Given the description of an element on the screen output the (x, y) to click on. 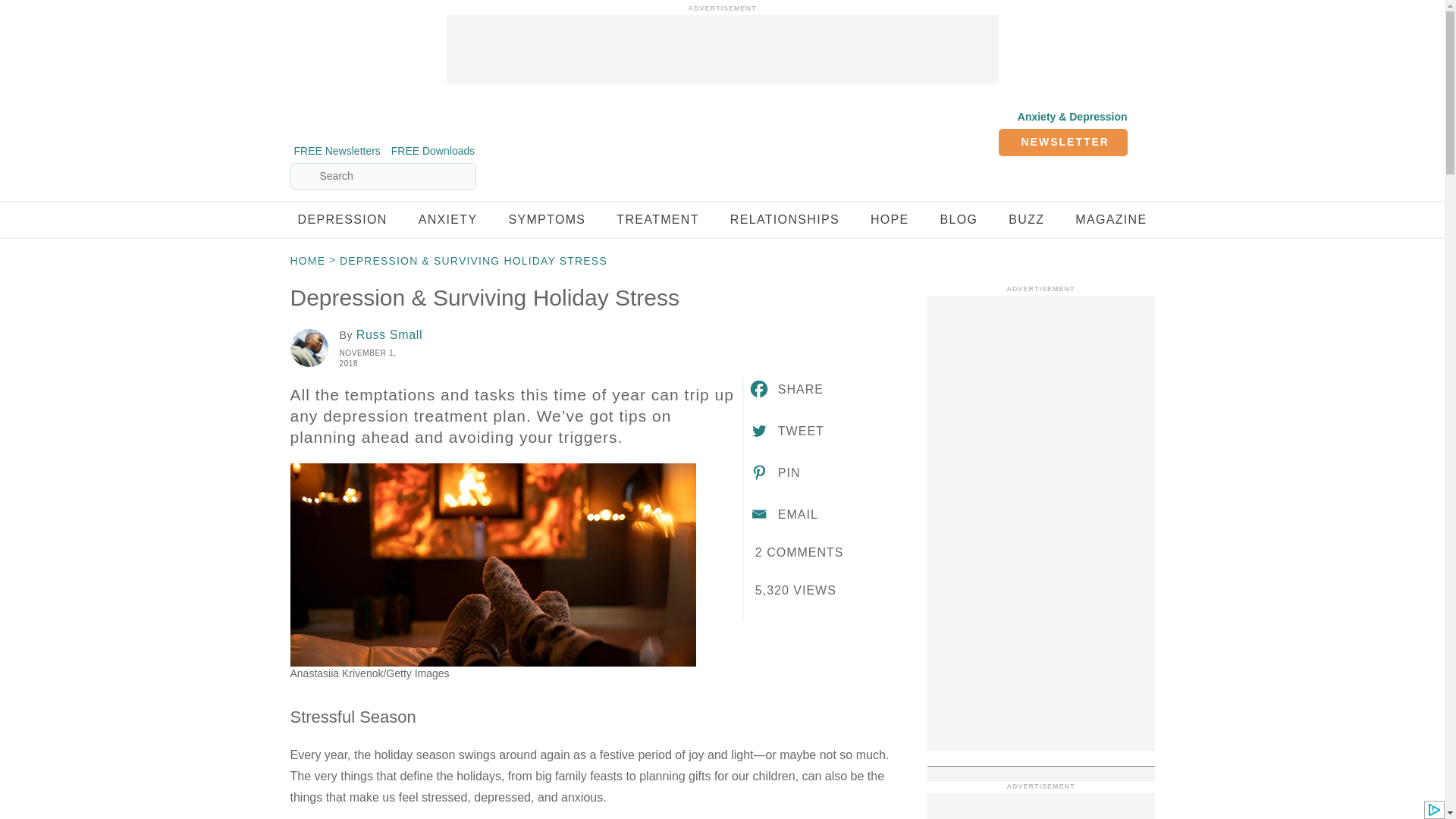
ANXIETY (448, 219)
RELATIONSHIPS (785, 219)
Email (783, 513)
DEPRESSION (342, 219)
Twitter (786, 430)
TREATMENT (656, 219)
SYMPTOMS (546, 219)
Pinterest (774, 472)
Facebook (786, 388)
